Given the description of an element on the screen output the (x, y) to click on. 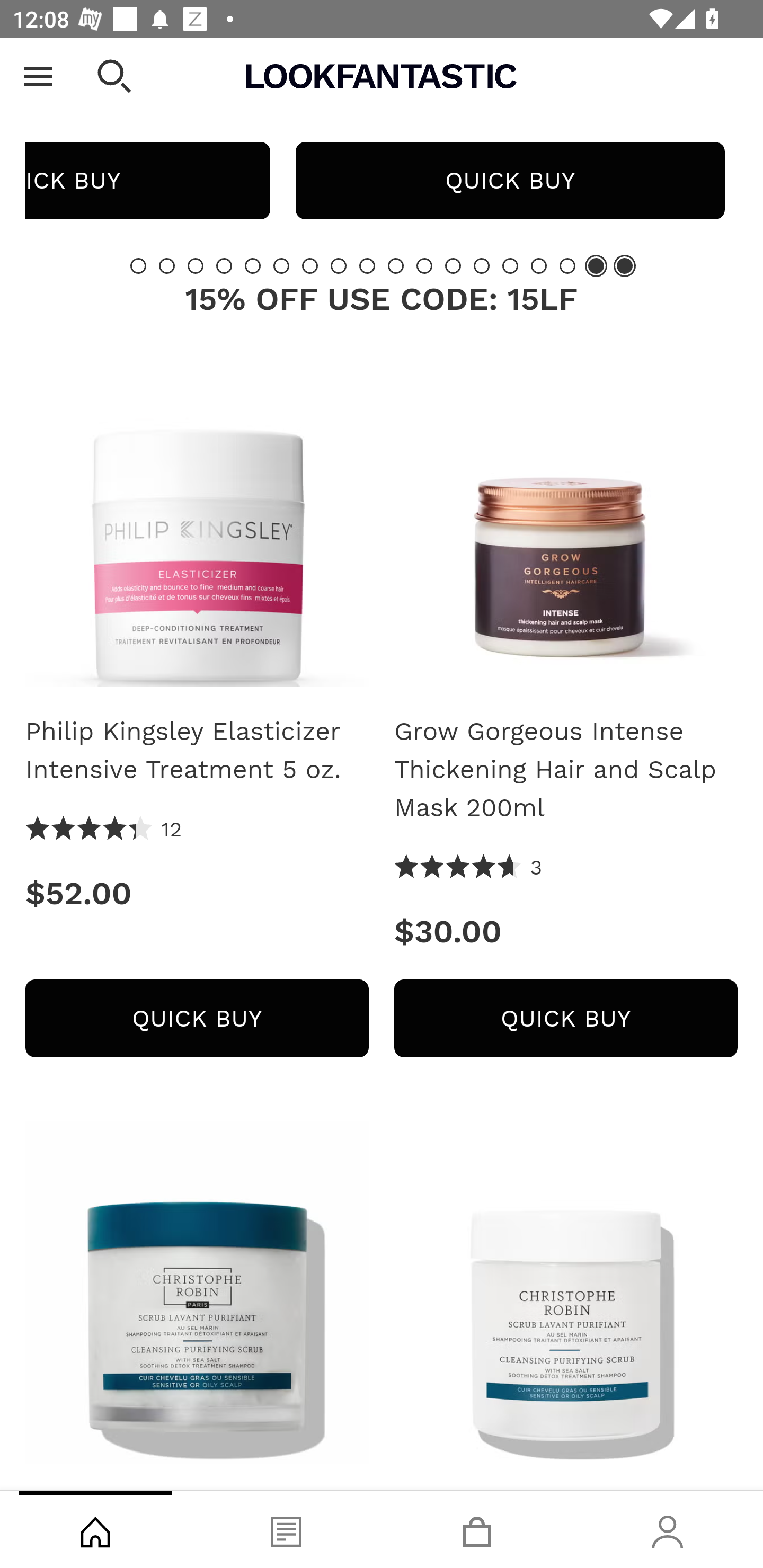
Slide 1 (138, 265)
Slide 2 (166, 265)
Slide 3 (195, 265)
Slide 4 (223, 265)
Slide 5 (252, 265)
Slide 6 (281, 265)
Slide 7 (310, 265)
Slide 8 (338, 265)
Slide 9 (367, 265)
Slide 10 (395, 265)
Slide 11 (424, 265)
Slide 12 (452, 265)
Slide 13 (481, 265)
Slide 14 (510, 265)
Slide 15 (539, 265)
Slide 16 (567, 265)
Showing Slide 17 (Current Item) (596, 265)
Showing Slide 18 (Current Item) (624, 265)
4.33 Stars 12 Reviews (104, 829)
4.67 Stars 3 Reviews (468, 868)
Price: $52.00 (196, 893)
Price: $30.00 (565, 931)
Shop, tab, 1 of 4 (95, 1529)
Blog, tab, 2 of 4 (285, 1529)
Basket, tab, 3 of 4 (476, 1529)
Account, tab, 4 of 4 (667, 1529)
